Given the description of an element on the screen output the (x, y) to click on. 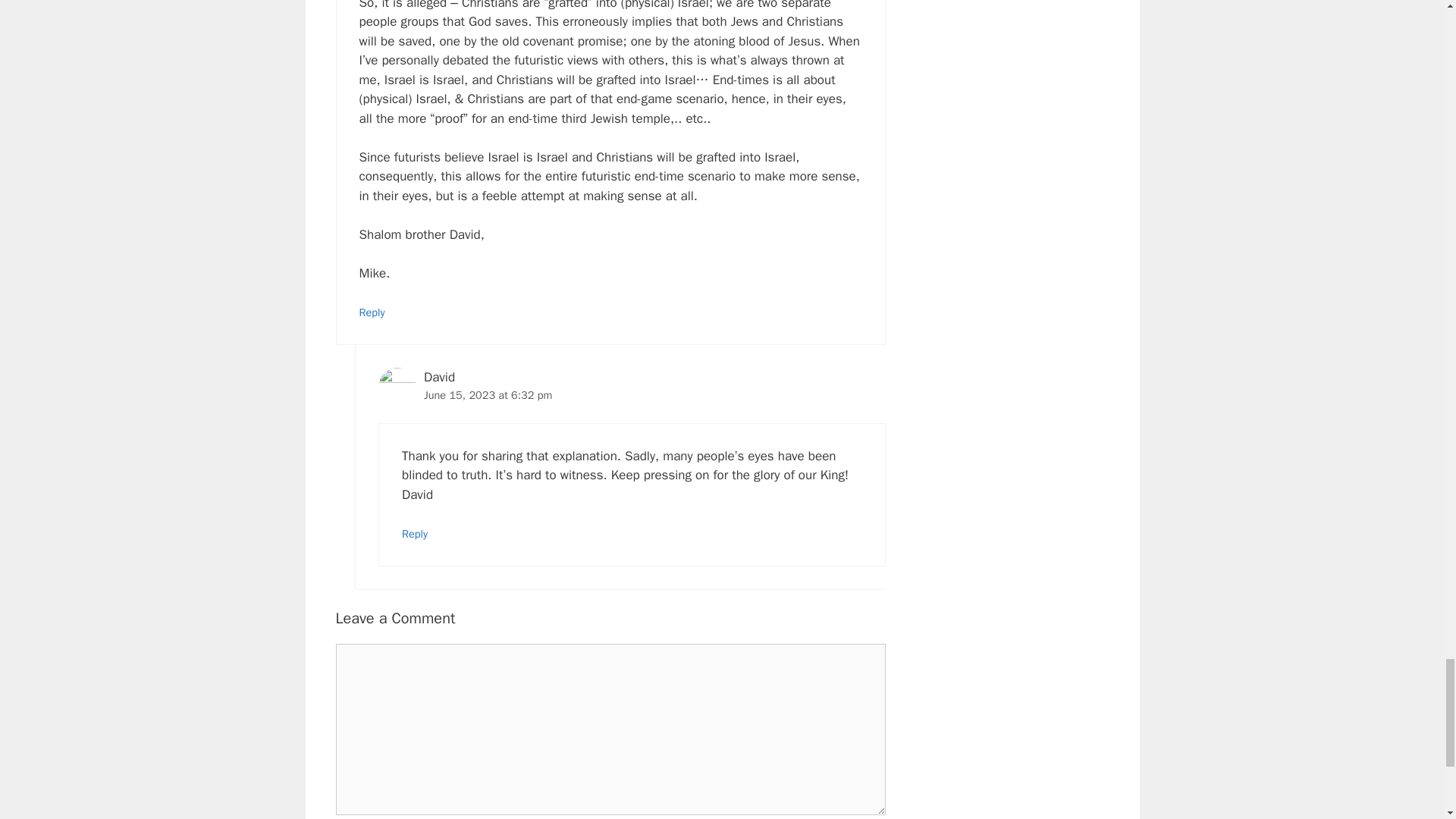
Reply (414, 533)
June 15, 2023 at 6:32 pm (487, 395)
Reply (372, 312)
